Given the description of an element on the screen output the (x, y) to click on. 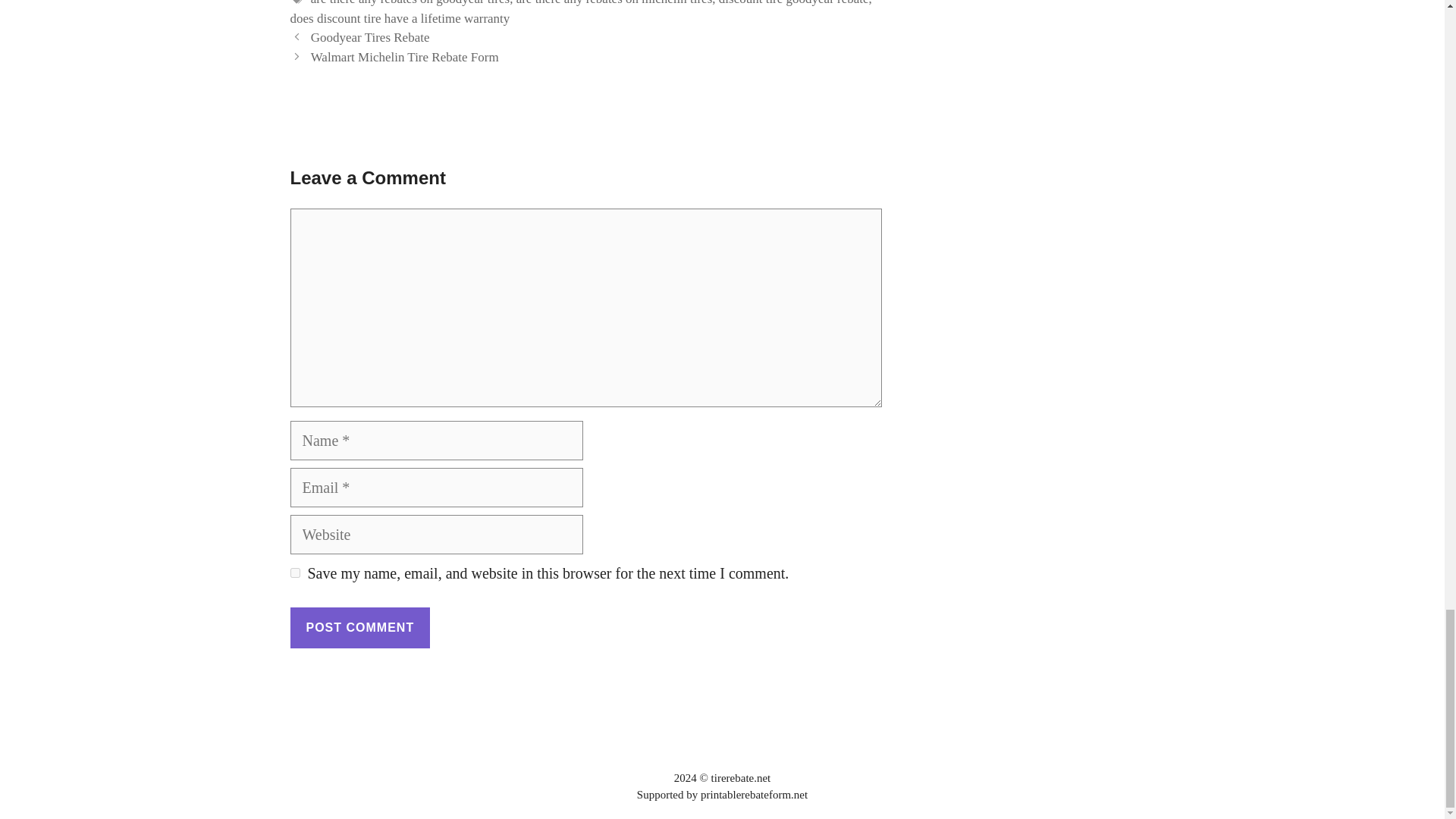
Post Comment (359, 627)
are there any rebates on michelin tires (614, 2)
does discount tire have a lifetime warranty (399, 18)
Post Comment (359, 627)
printablerebateform.net (754, 794)
are there any rebates on goodyear tires (410, 2)
Goodyear Tires Rebate (370, 37)
Previous (370, 37)
Walmart Michelin Tire Rebate Form (405, 56)
Next (405, 56)
